Given the description of an element on the screen output the (x, y) to click on. 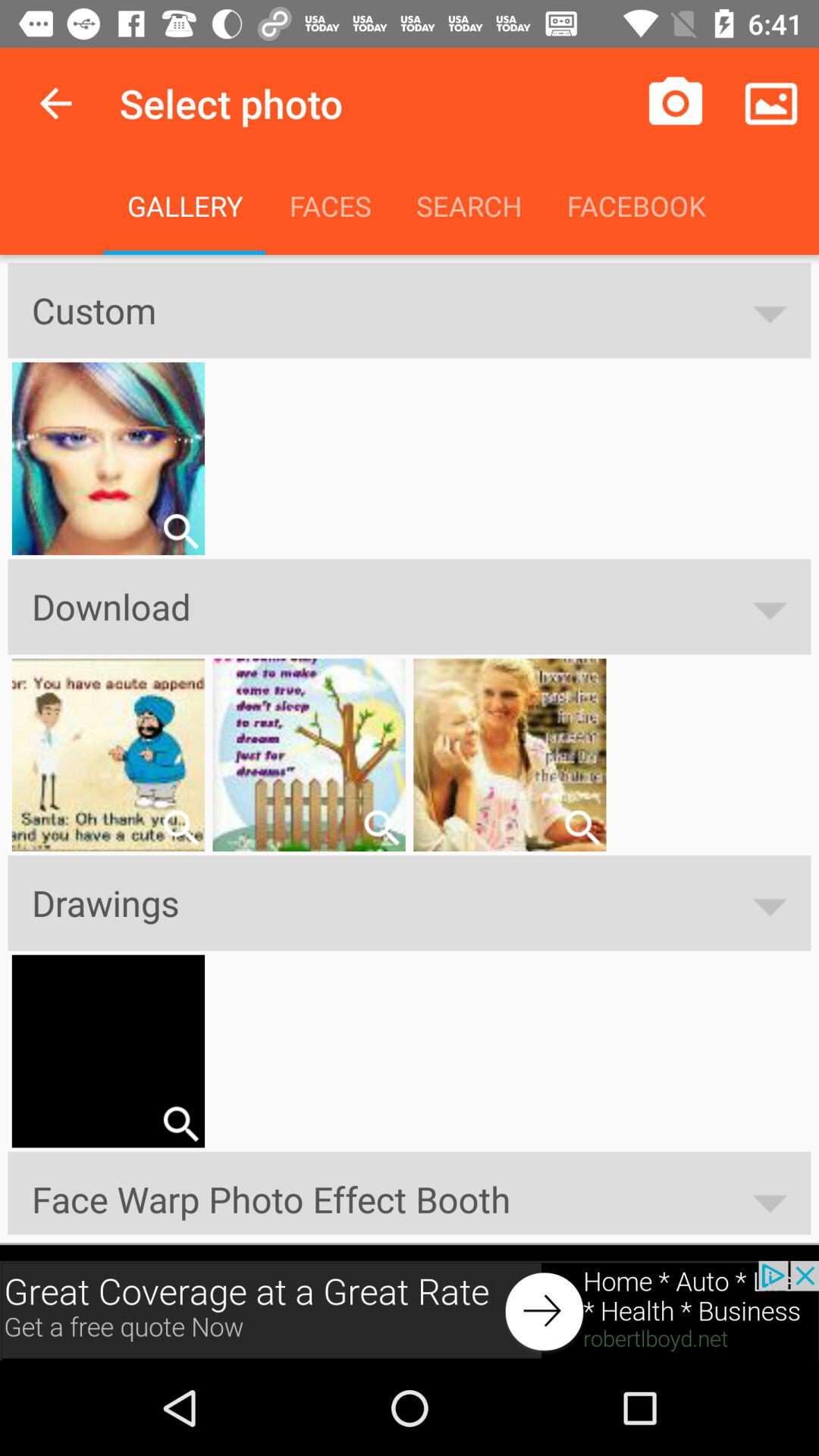
lets you easily change and animate faces in photos (180, 827)
